Given the description of an element on the screen output the (x, y) to click on. 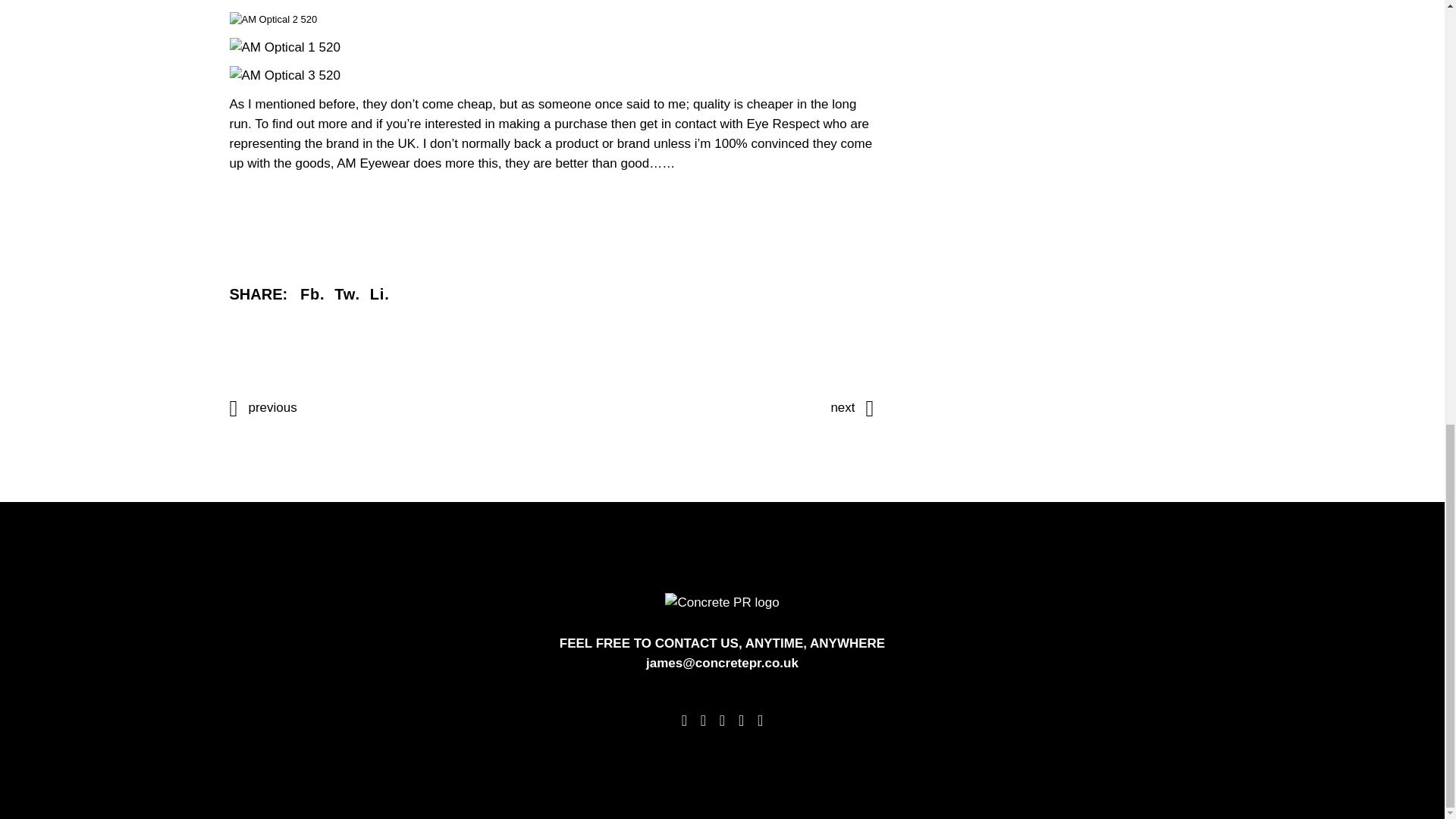
Eye Respect (781, 124)
Page 1 (550, 86)
